Given the description of an element on the screen output the (x, y) to click on. 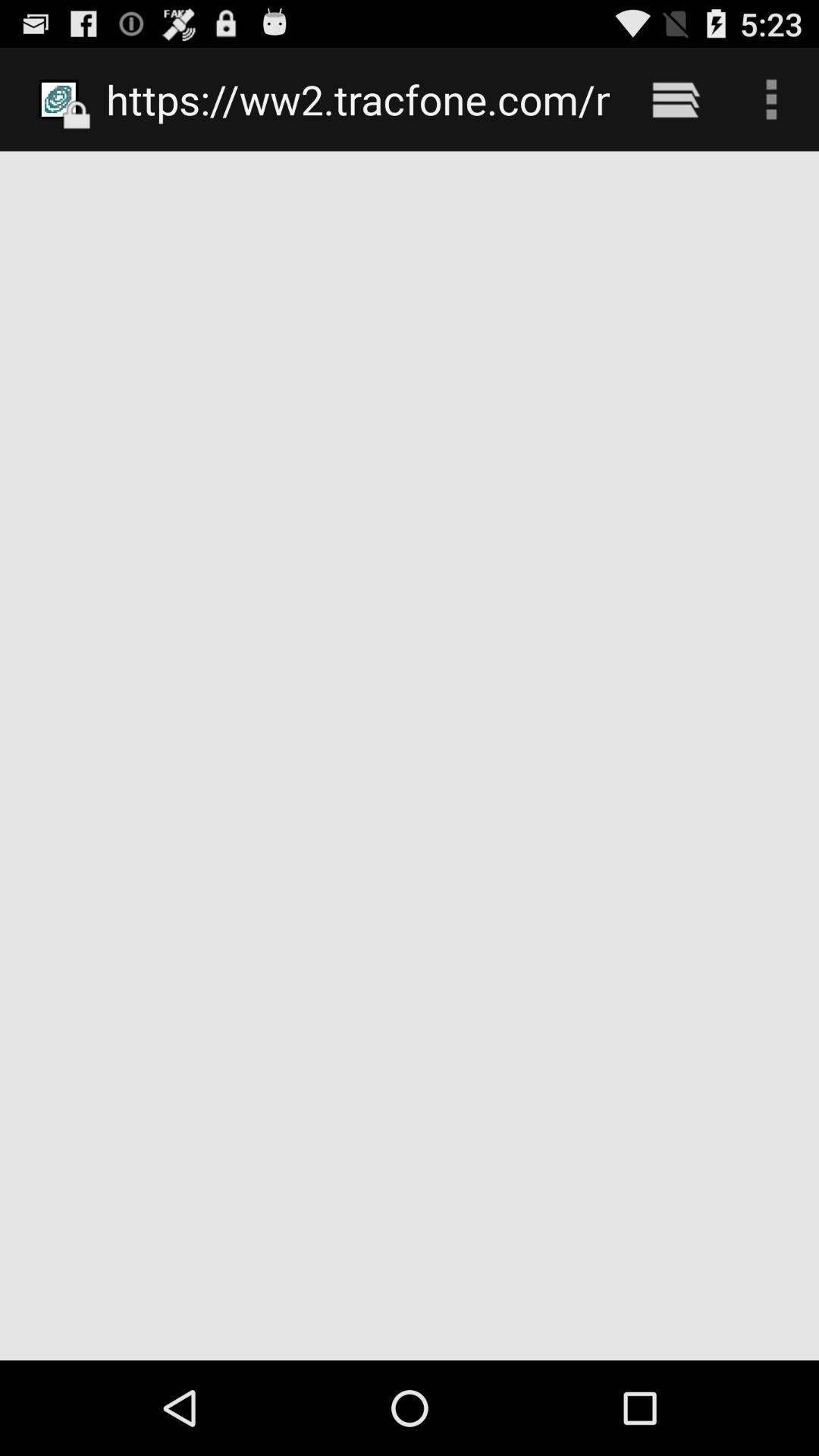
tap icon to the right of the https ww2 tracfone icon (675, 99)
